Given the description of an element on the screen output the (x, y) to click on. 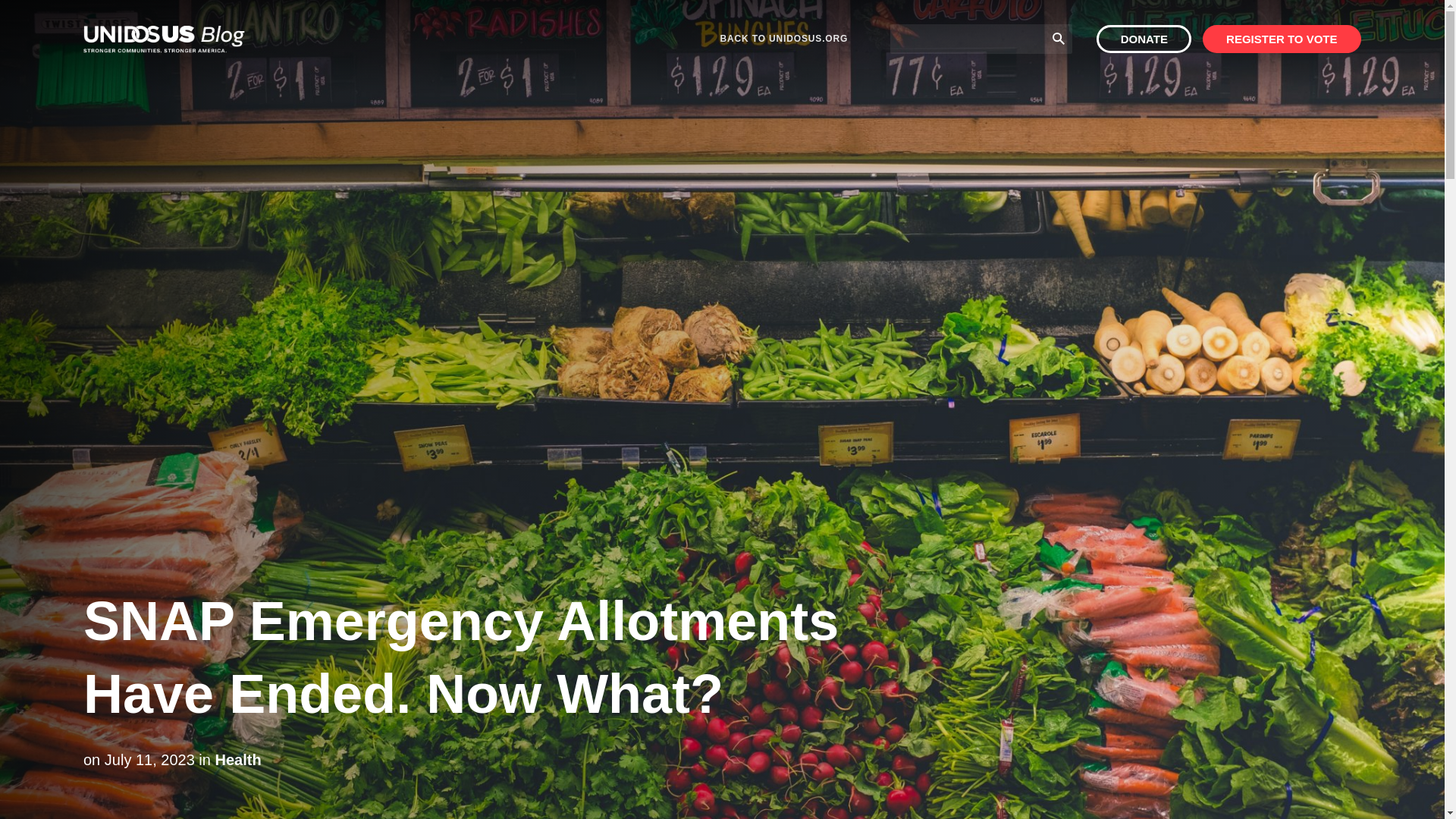
Submit Search (1058, 37)
REGISTER TO VOTE (1281, 39)
Blog (163, 39)
Health (237, 759)
DONATE (1143, 39)
BACK TO UNIDOSUS.ORG (784, 39)
